Given the description of an element on the screen output the (x, y) to click on. 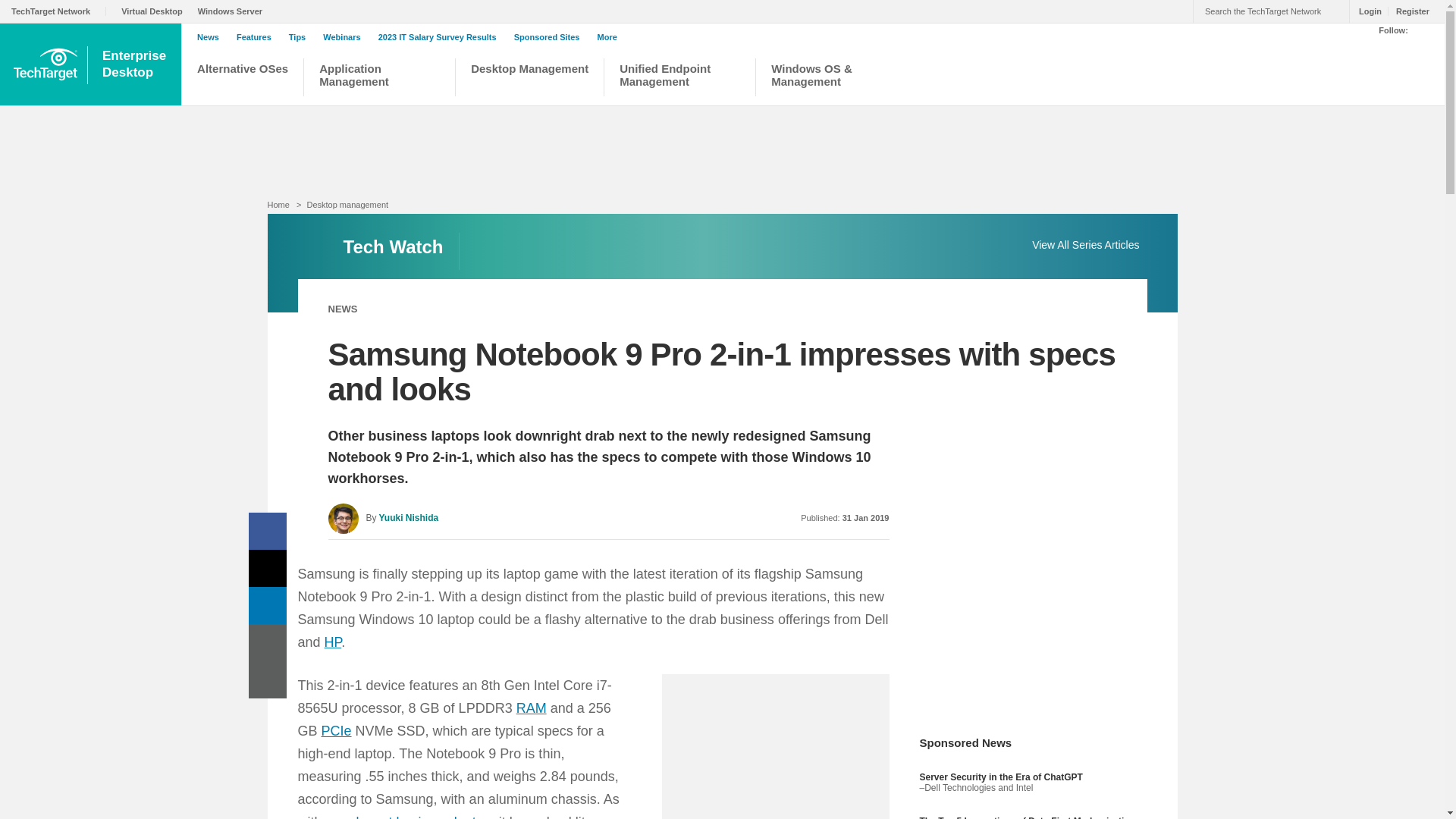
Tips (300, 36)
Register (1408, 10)
2023 IT Salary Survey Results (721, 245)
Desktop Management (440, 36)
Application Management (529, 79)
Unified Endpoint Management (378, 79)
Desktop management (135, 64)
Webinars (679, 79)
